Given the description of an element on the screen output the (x, y) to click on. 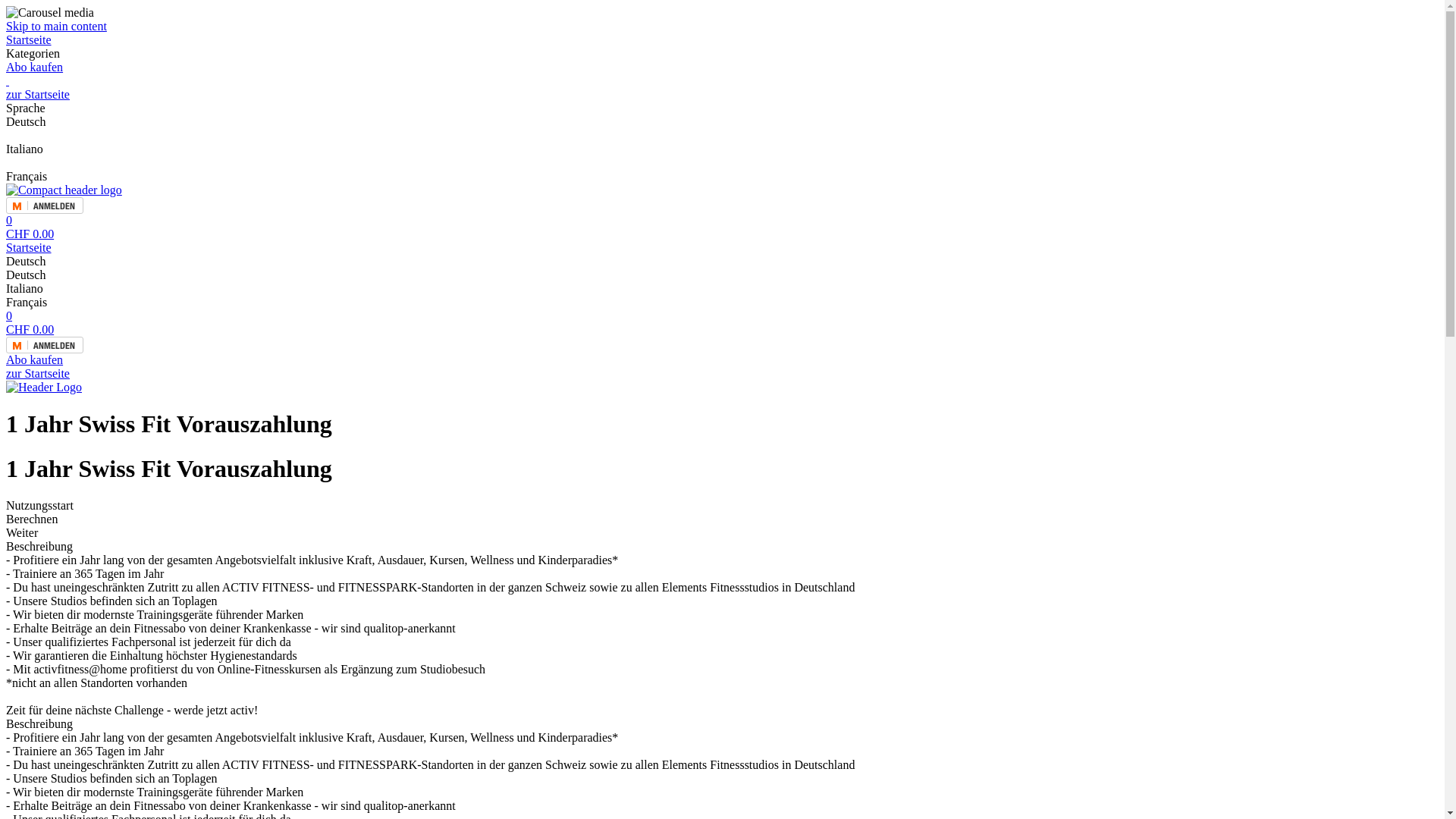
zur Startseite Element type: text (722, 373)
Startseite Element type: text (722, 247)
Abo kaufen Element type: text (722, 360)
0
CHF 0.00 Element type: text (722, 226)
Abo kaufen Element type: text (722, 67)
  zur Startseite Element type: text (722, 87)
0
CHF 0.00 Element type: text (722, 322)
Skip to main content Element type: text (56, 25)
ANMELDEN Element type: text (722, 351)
ANMELDEN Element type: text (722, 205)
Startseite Element type: text (722, 40)
